Given the description of an element on the screen output the (x, y) to click on. 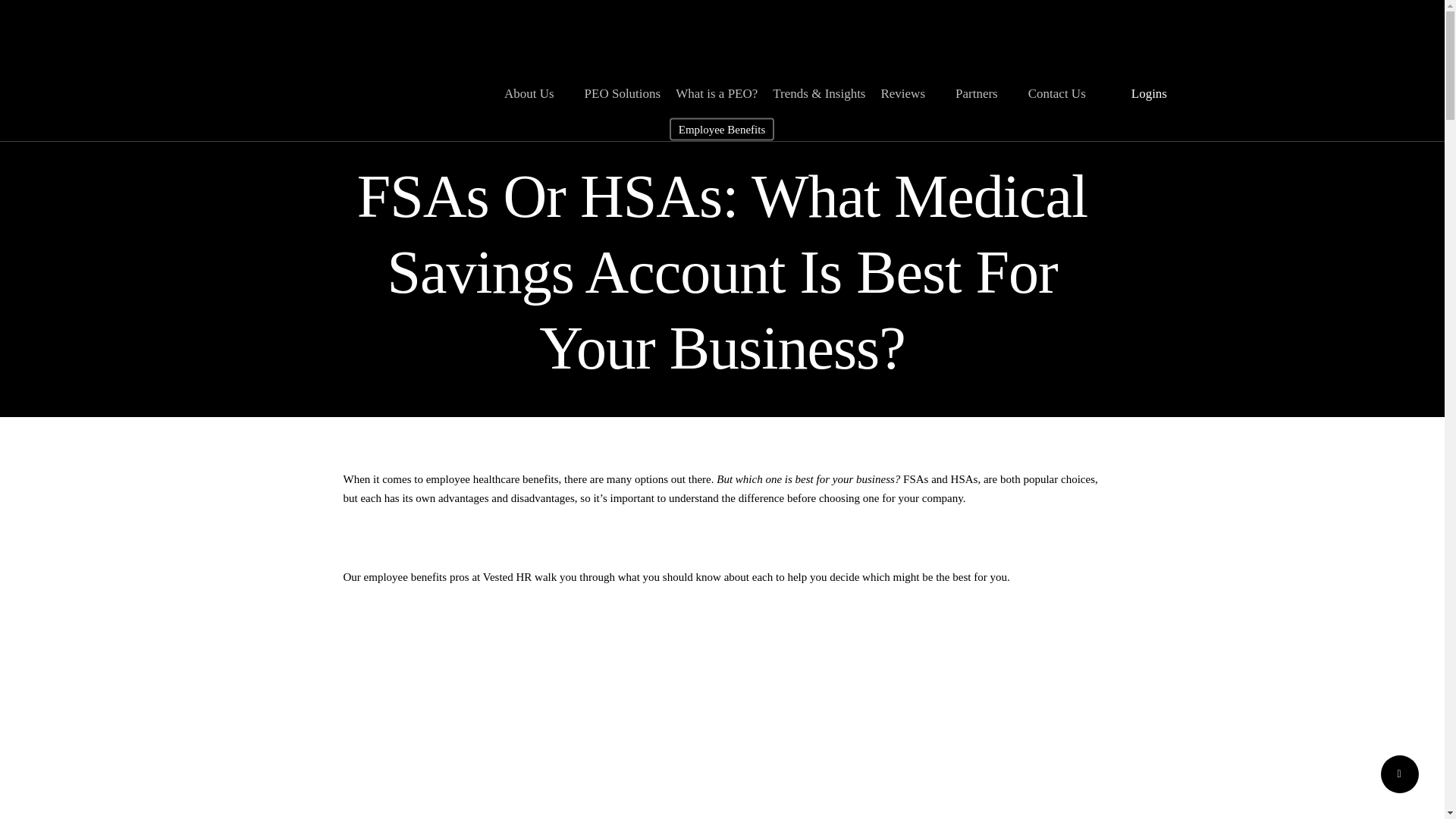
Partners (984, 93)
Contact Us (1063, 93)
Logins (1154, 93)
What is a PEO? (716, 93)
Reviews (910, 93)
PEO Solutions (623, 93)
About Us (536, 93)
